Given the description of an element on the screen output the (x, y) to click on. 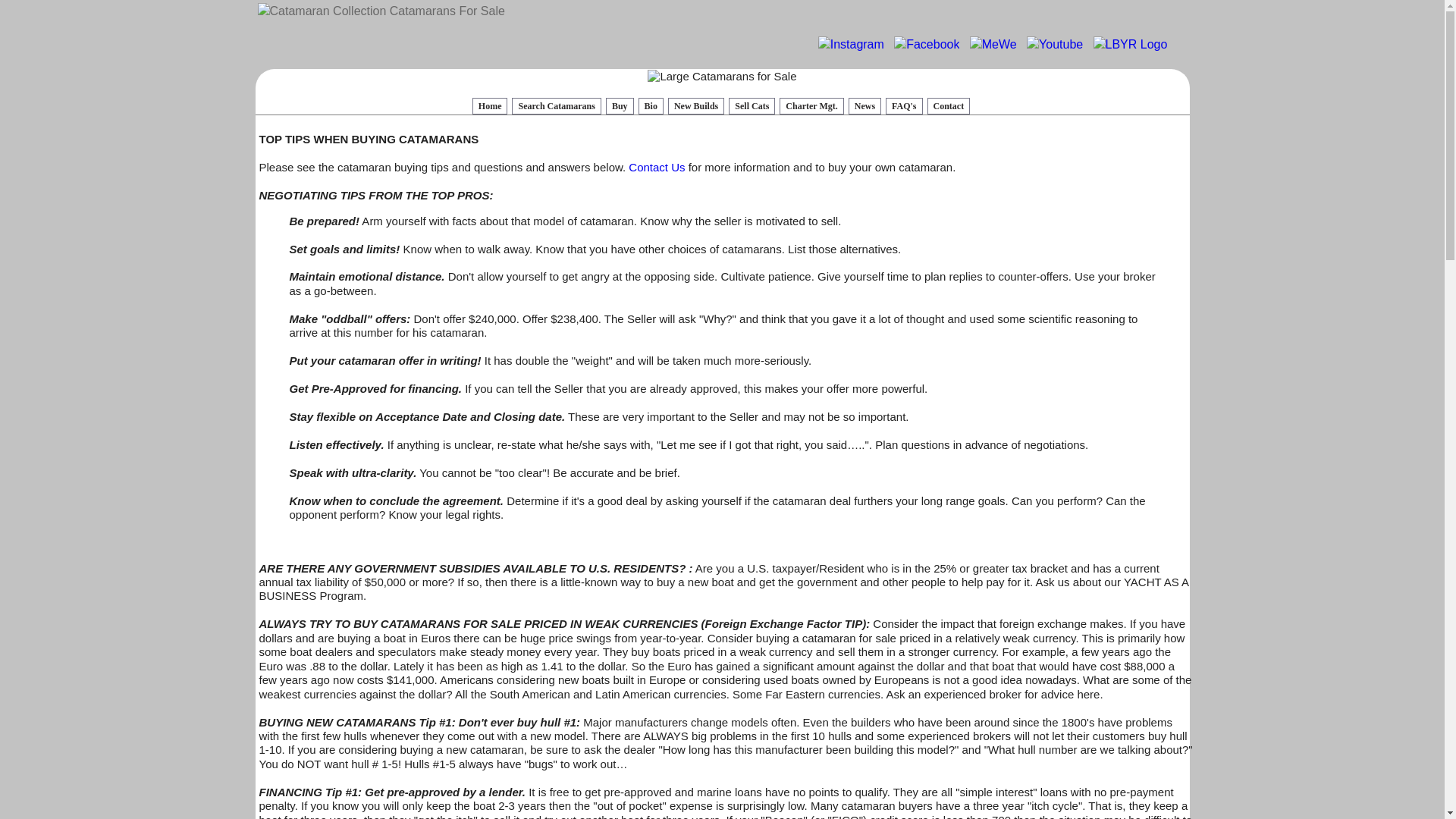
News (864, 105)
Home (489, 105)
New Builds (695, 105)
Buy (619, 105)
Charter Mgt. (810, 105)
Contact (947, 105)
Search Catamarans (555, 105)
Contact Us (656, 166)
Bio (651, 105)
Sell Cats (751, 105)
